Given the description of an element on the screen output the (x, y) to click on. 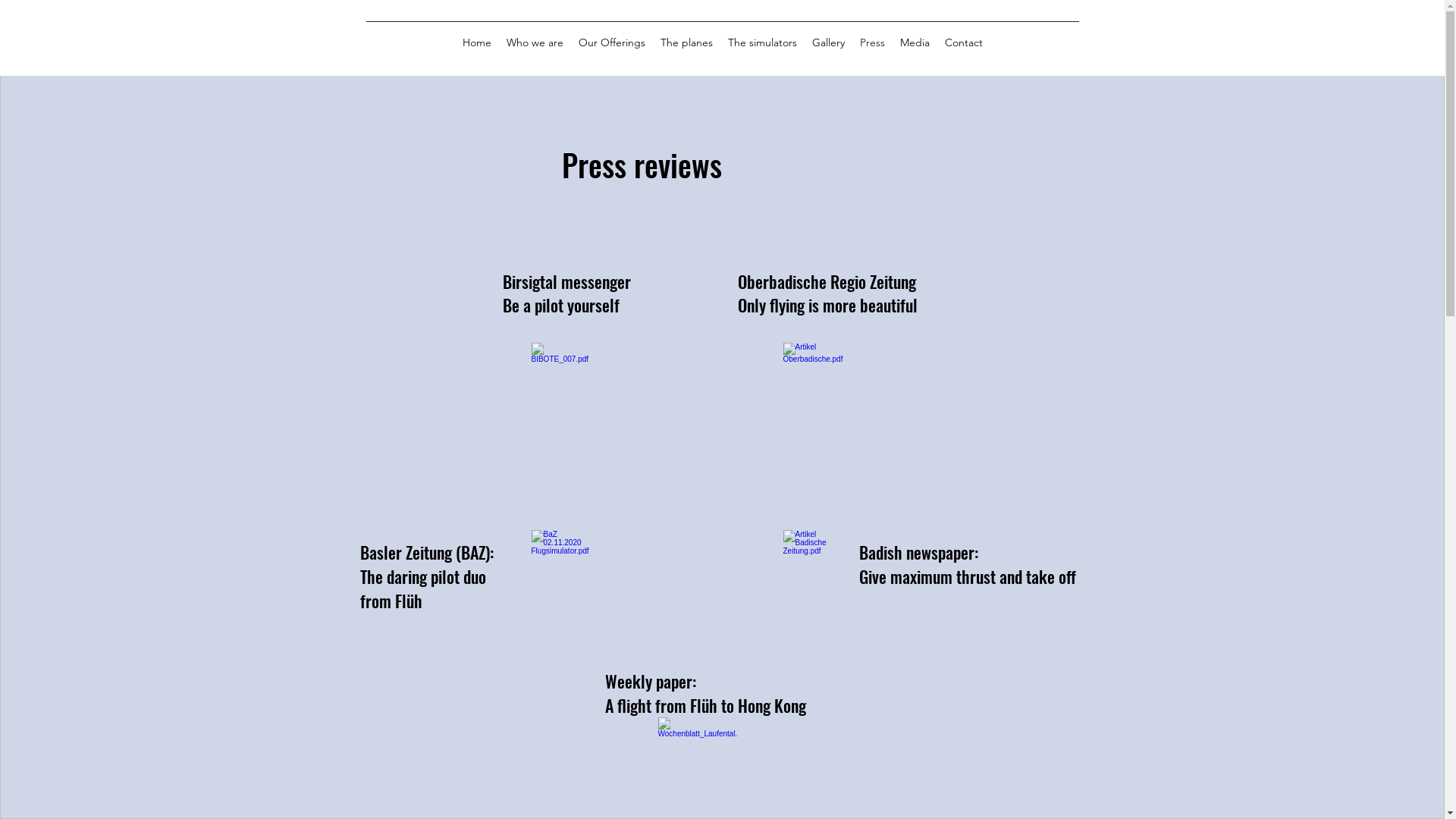
Artikel Badische Zeitung.pdf Element type: hover (813, 583)
Gallery Element type: text (827, 42)
Our Offerings Element type: text (611, 42)
BaZ 02.11.2020 Flugsimulator.pdf Element type: hover (561, 583)
Home Element type: text (476, 42)
BIBOTE_007.pdf Element type: hover (561, 395)
Contact Element type: text (963, 42)
Media Element type: text (913, 42)
Press Element type: text (872, 42)
Who we are Element type: text (534, 42)
The simulators Element type: text (762, 42)
Artikel Oberbadische.pdf Element type: hover (813, 395)
The planes Element type: text (685, 42)
